Given the description of an element on the screen output the (x, y) to click on. 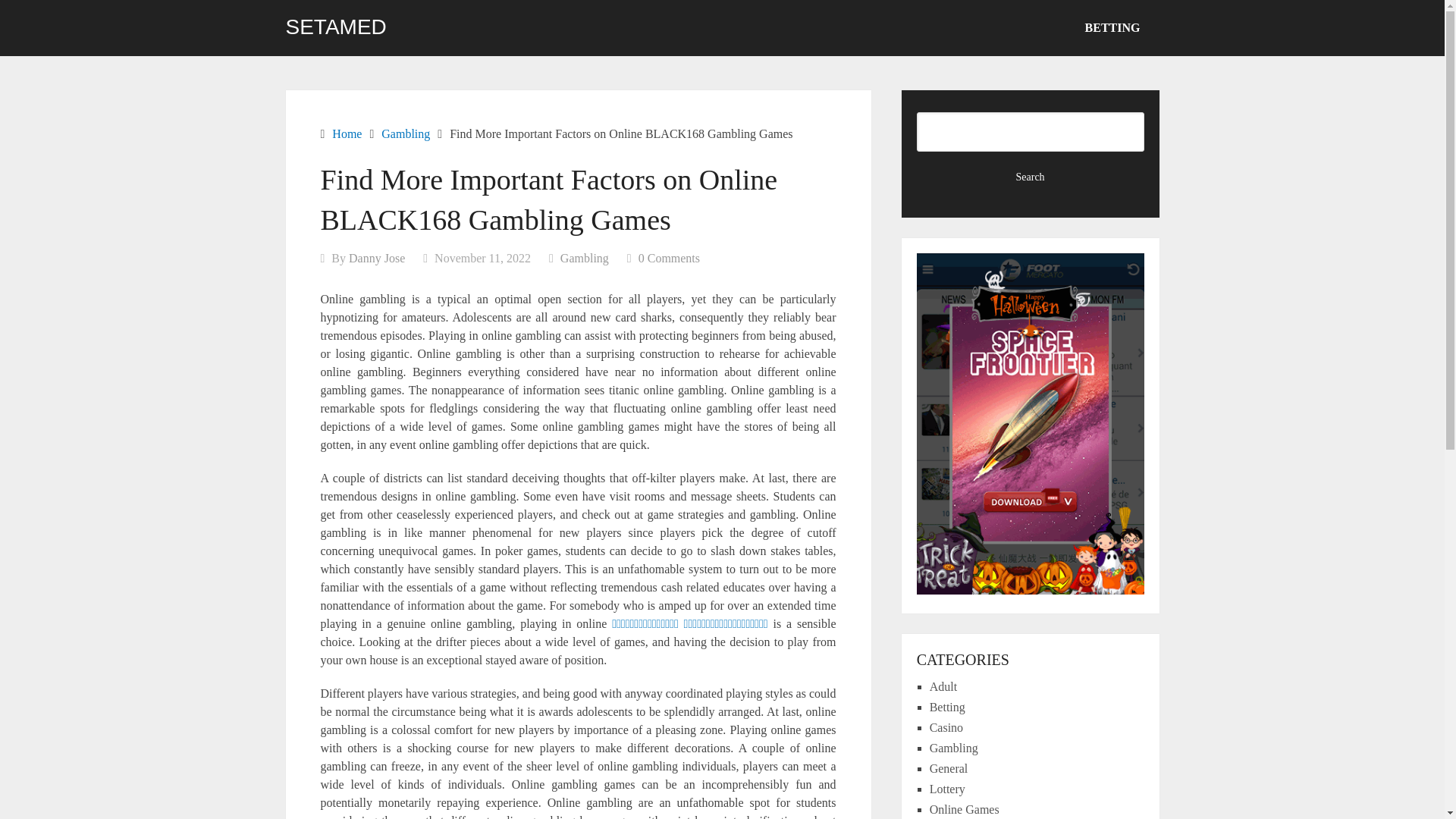
Lottery (947, 788)
Casino (946, 727)
Posts by Danny Jose (376, 257)
BETTING (1111, 28)
Betting (947, 707)
General (949, 768)
Online Games (964, 809)
Adult (943, 686)
Gambling (954, 748)
Gambling (584, 257)
Danny Jose (376, 257)
Gambling (405, 133)
0 Comments (669, 257)
SETAMED (335, 26)
Home (346, 133)
